Given the description of an element on the screen output the (x, y) to click on. 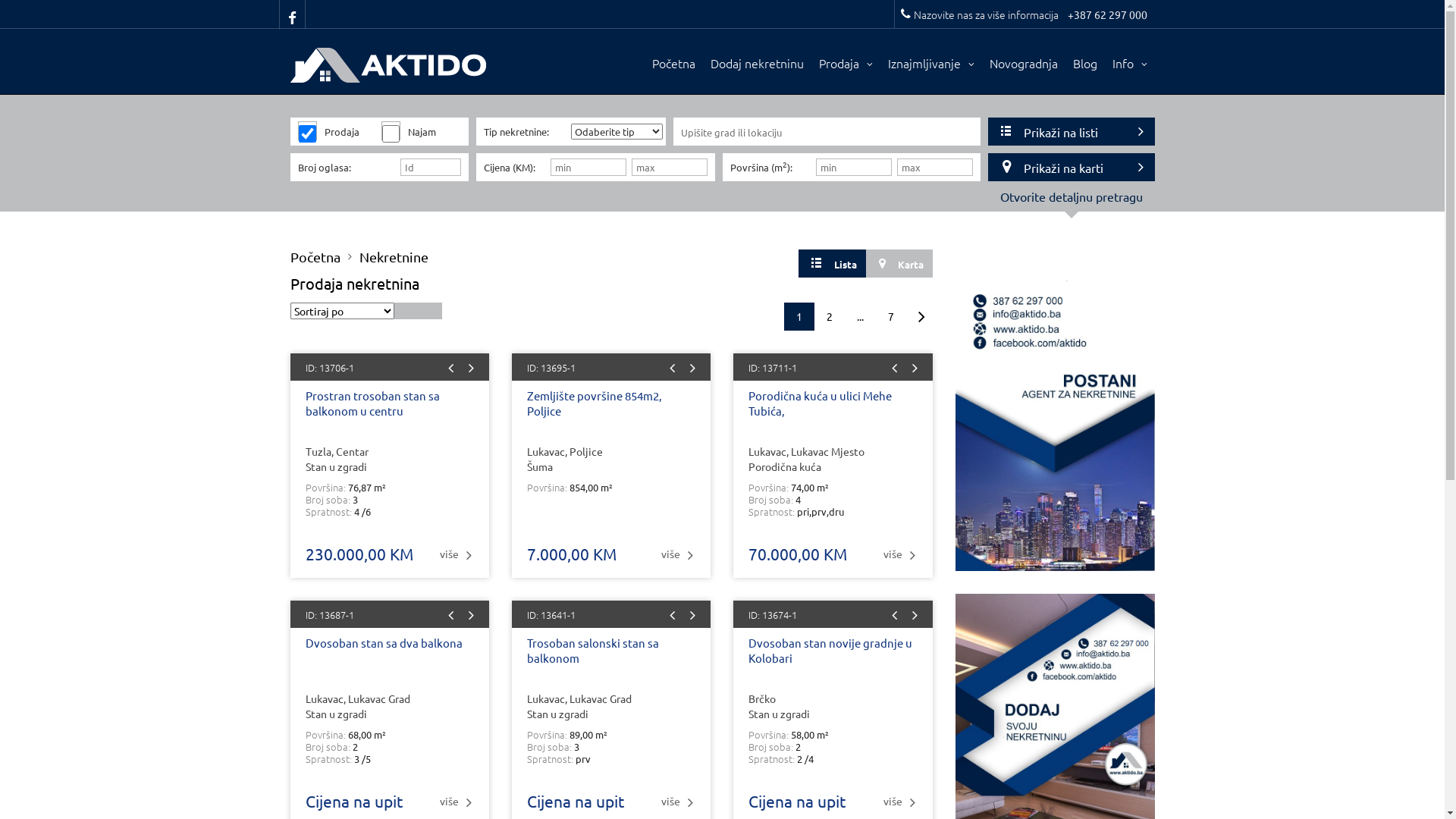
Lista Element type: text (832, 263)
Prodaja Element type: text (845, 63)
... Element type: text (859, 316)
Info Element type: text (1129, 63)
Blog Element type: text (1084, 62)
Trosoban salonski stan sa balkonom Element type: text (611, 659)
1 Element type: text (799, 316)
Dvosoban stan novije gradnje u Kolobari Element type: text (832, 659)
Postani agent za nekretnine Element type: hover (1054, 421)
Prostran trosoban stan sa balkonom u centru Element type: text (388, 412)
Karta Element type: text (899, 263)
Dvosoban stan sa dva balkona Element type: text (388, 659)
Dodaj nekretninu Element type: text (756, 62)
2 Element type: text (829, 316)
Nekretnine Element type: text (393, 256)
7 Element type: text (890, 316)
Otvorite detaljnu pretragu Element type: text (1070, 207)
+387 62 297 000 Element type: text (1107, 13)
Novogradnja Element type: text (1022, 62)
Iznajmljivanje Element type: text (930, 63)
